Given the description of an element on the screen output the (x, y) to click on. 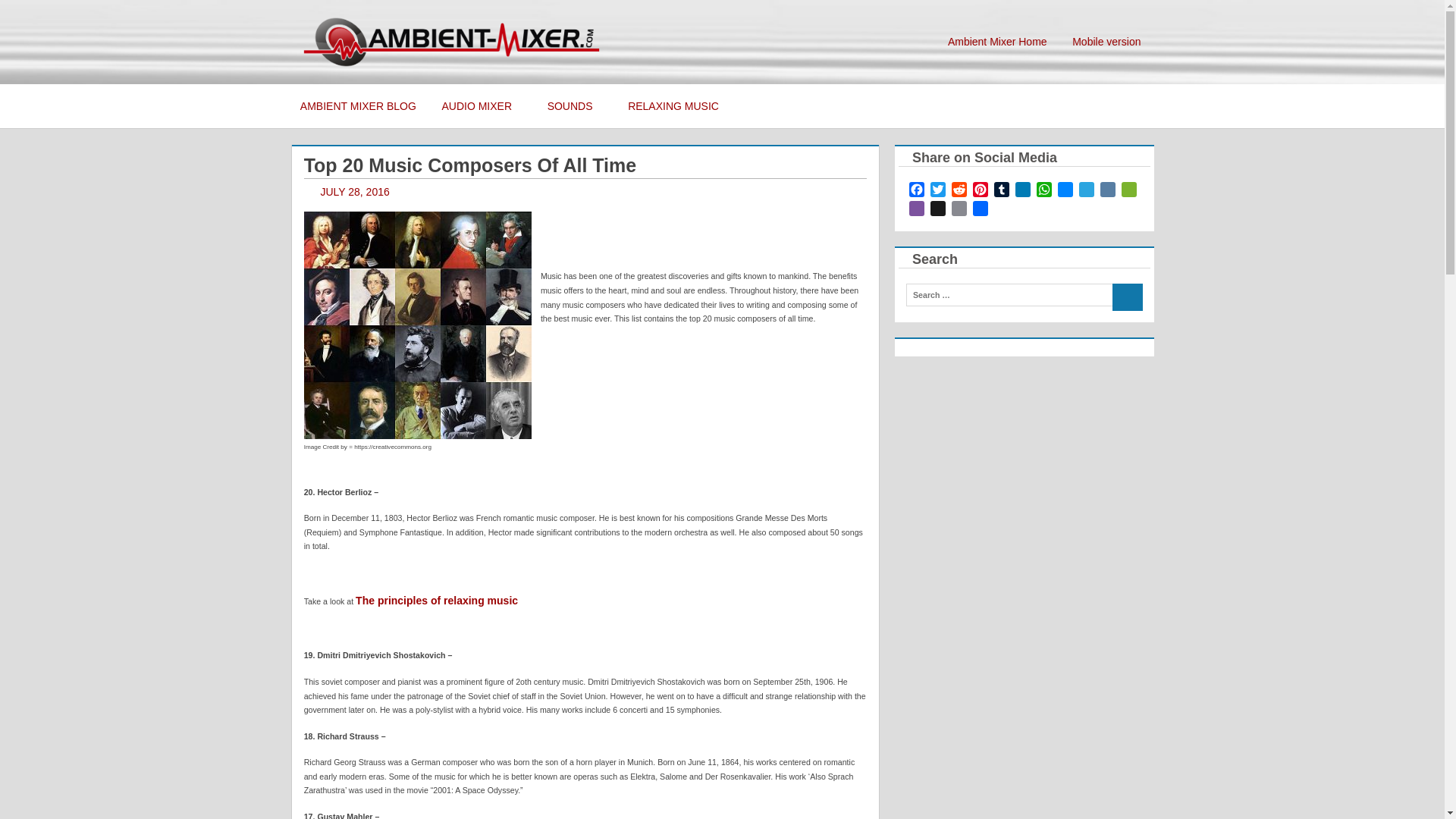
Ambient Mixer Home (996, 42)
RELAXING MUSIC (677, 105)
JULY 28, 2016 (354, 191)
11:03 pm (354, 191)
AMBIENT MIXER BLOG (357, 105)
AMBIENT MIXER TEAM (474, 191)
The principles of relaxing music (436, 600)
View all posts by Ambient Mixer Team (474, 191)
AUDIO MIXER (481, 105)
SOUNDS (574, 105)
Mobile version (1106, 42)
